Given the description of an element on the screen output the (x, y) to click on. 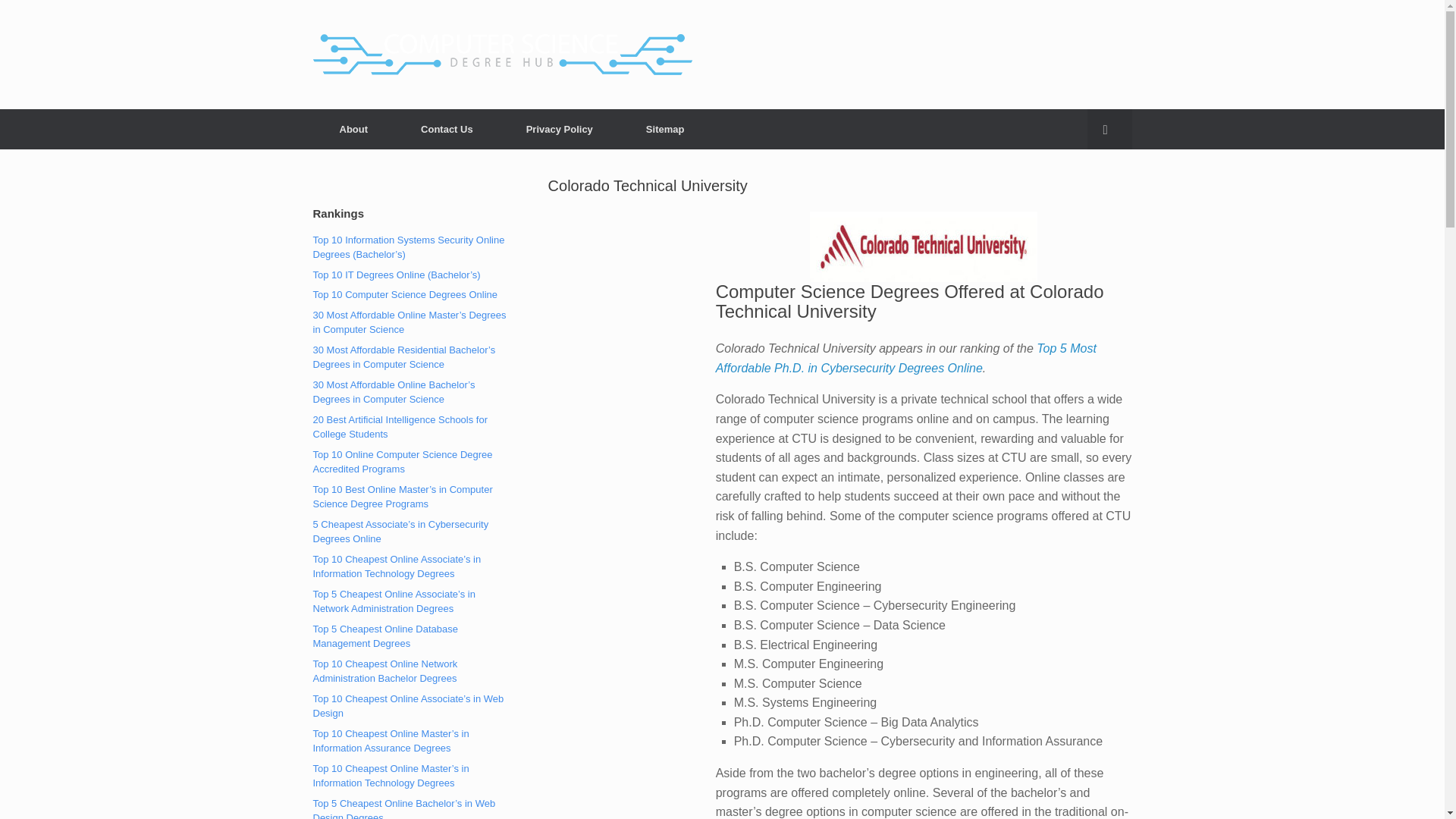
Contact Us (446, 128)
Top 5 Cheapest Online Database Management Degrees (385, 636)
20 Best Artificial Intelligence Schools for College Students (400, 427)
About (353, 128)
Computer Science Degree Hub (502, 54)
Top 10 Computer Science Degrees Online (405, 294)
Top 5 Most Affordable Ph.D. in Cybersecurity Degrees Online (906, 358)
Top 10 Online Computer Science Degree Accredited Programs (402, 461)
Sitemap (665, 128)
Privacy Policy (559, 128)
